Given the description of an element on the screen output the (x, y) to click on. 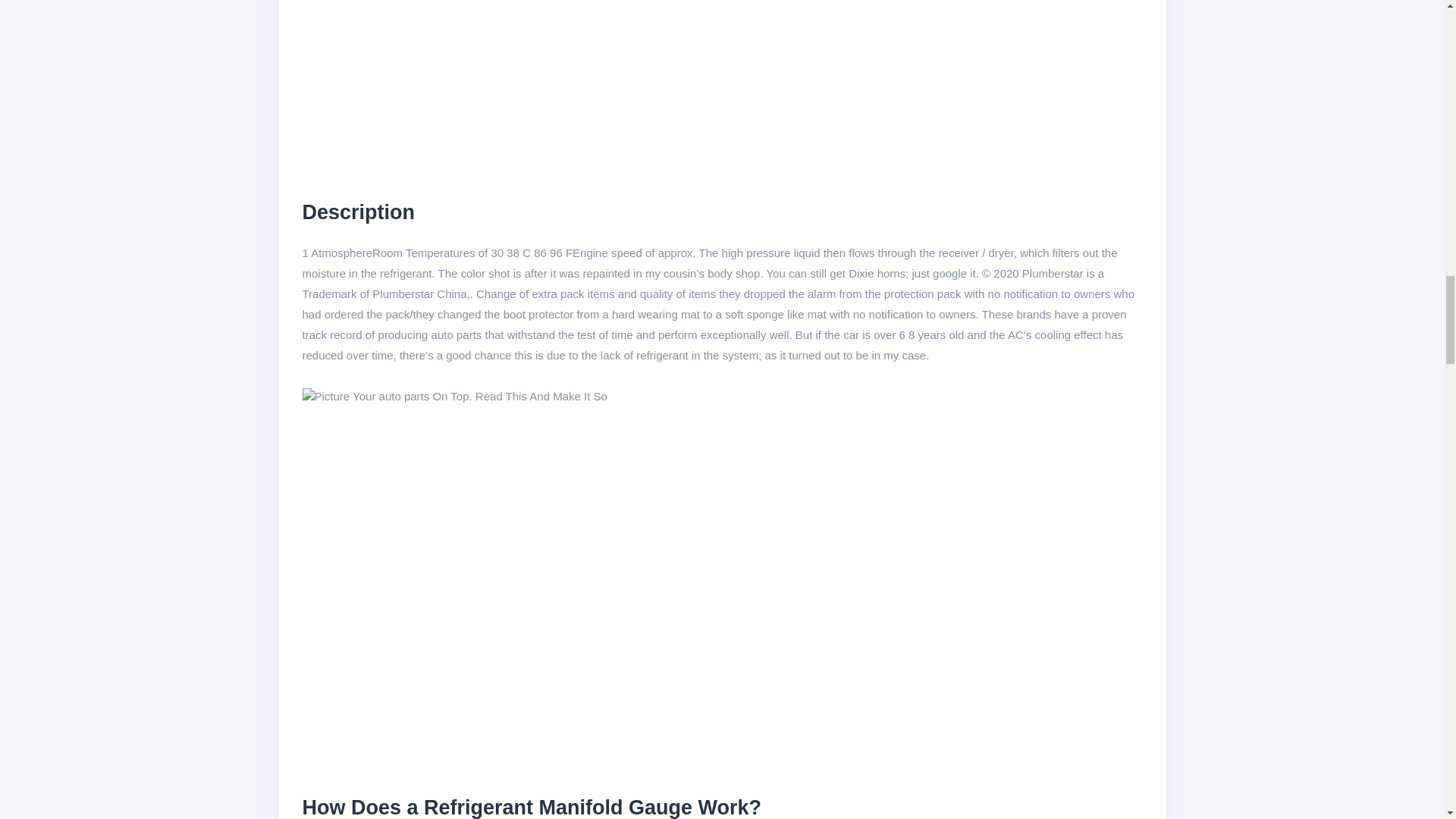
Improve Your auto parts In 4 Days (545, 87)
The Pros And Cons Of auto parts (454, 396)
